Given the description of an element on the screen output the (x, y) to click on. 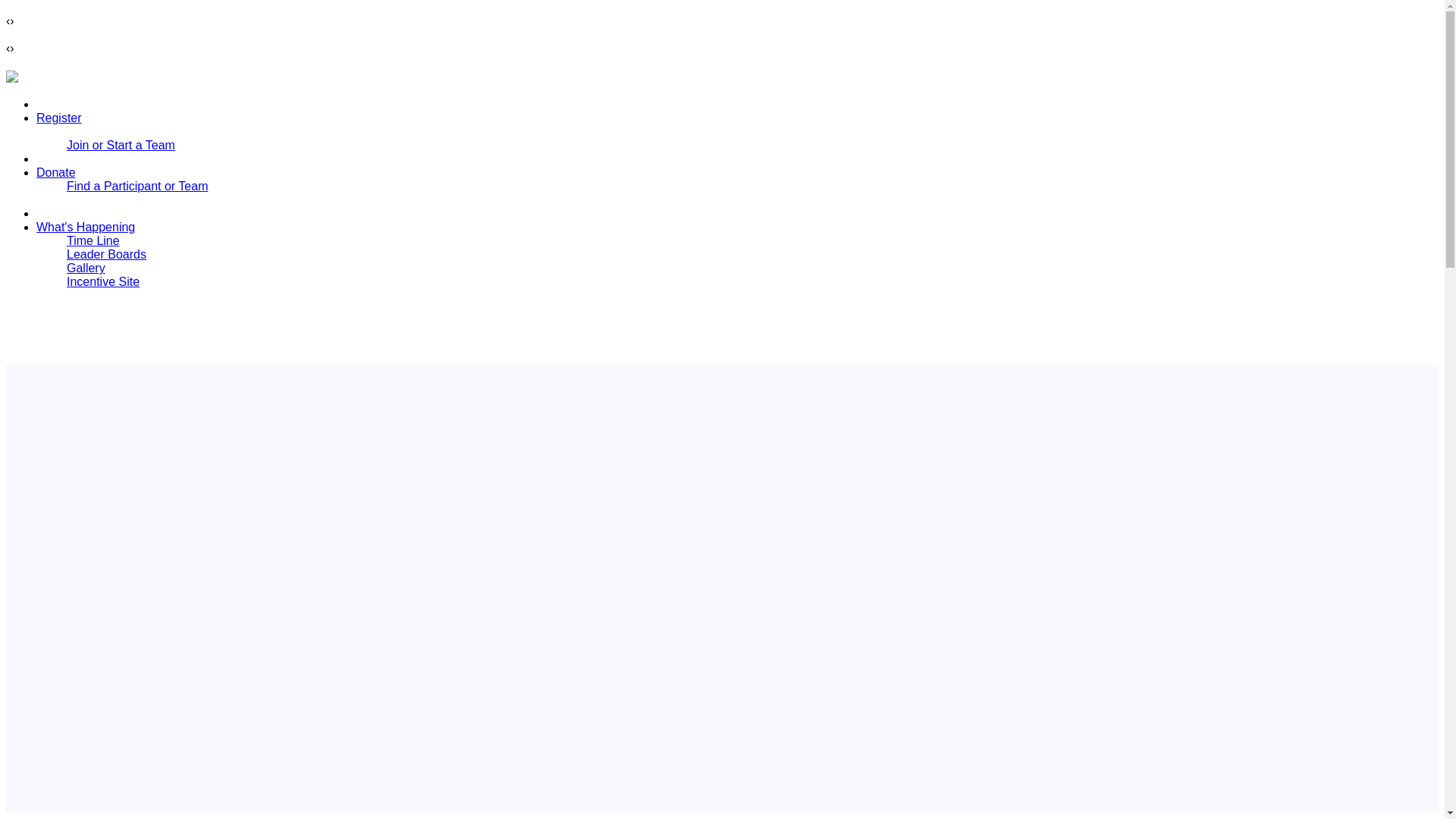
What's Happening (85, 226)
Incentive Site (102, 281)
Leader Boards (106, 254)
Time Line (92, 240)
Gallery (85, 267)
Find a Participant or Team (137, 185)
Join or Start a Team (120, 144)
Donate (55, 172)
Make a General Donation (135, 199)
Register (58, 117)
Individual (91, 131)
Opens new window (102, 281)
